Given the description of an element on the screen output the (x, y) to click on. 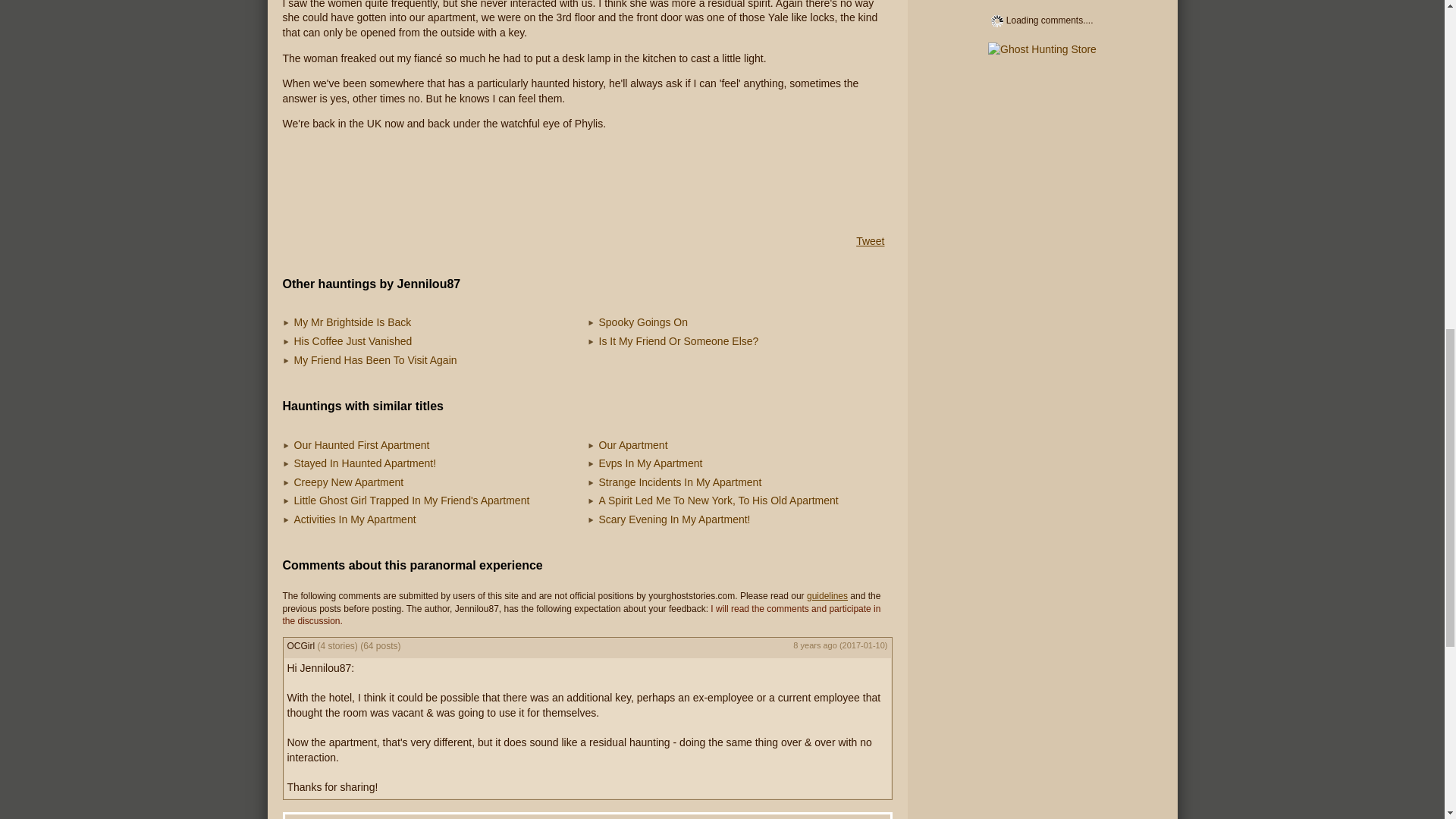
Our Haunted First Apartment (361, 444)
Is It My Friend Or Someone Else? (678, 340)
Advertisement (587, 181)
My Mr Brightside Is Back (353, 322)
Creepy New Apartment (349, 481)
Tweet (869, 241)
My Friend Has Been To Visit Again (375, 359)
His Coffee Just Vanished (353, 340)
Stayed In Haunted Apartment! (365, 463)
Spooky Goings On (643, 322)
